Given the description of an element on the screen output the (x, y) to click on. 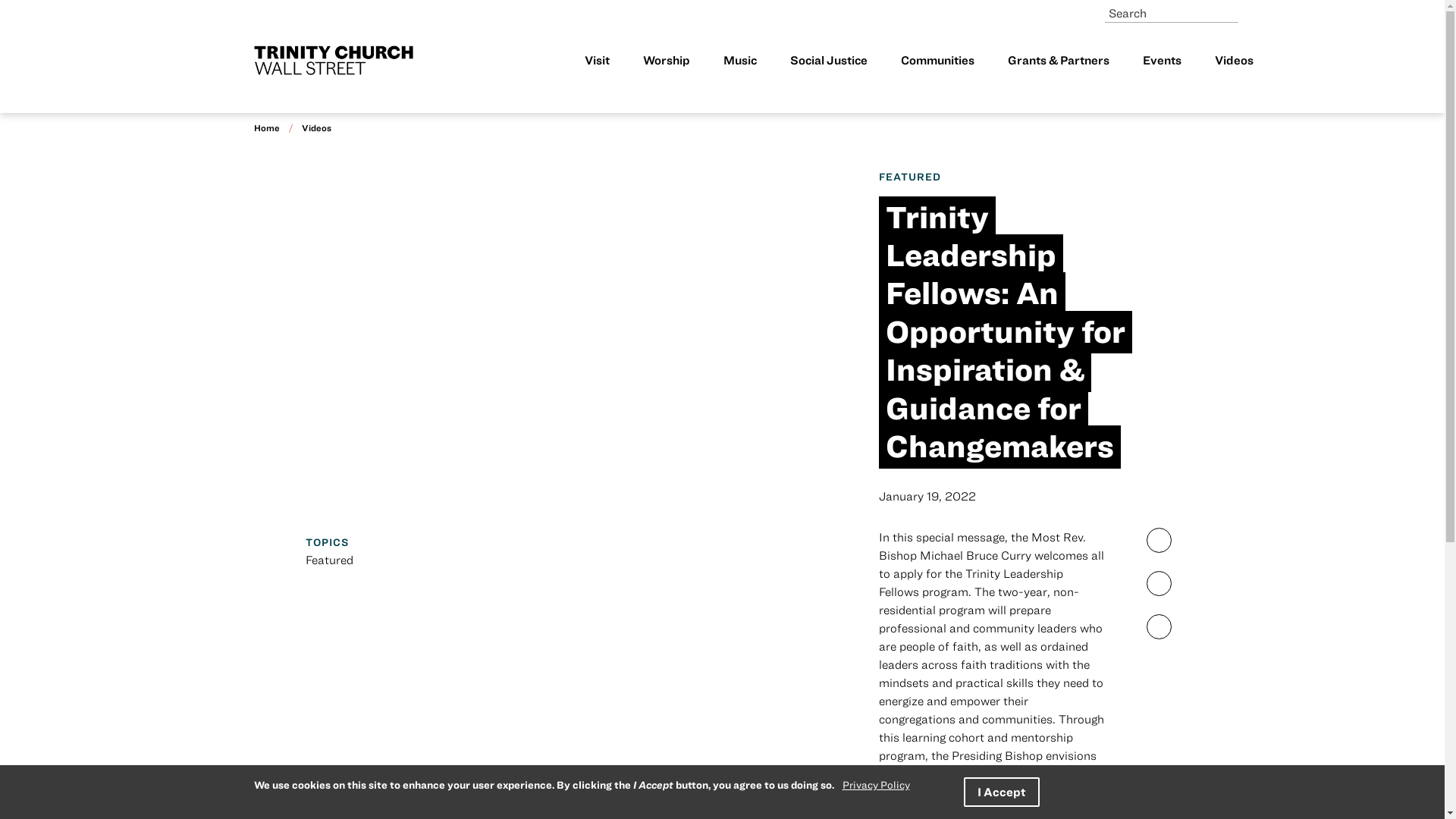
Videos (1233, 60)
Worship (666, 60)
Social Justice (828, 60)
Worship (666, 60)
Music (740, 60)
Skip to main content (721, 6)
Communities (937, 60)
Social Justice (828, 60)
Visit (595, 60)
Communities (937, 60)
Events (1160, 60)
Visit (595, 60)
Home (266, 127)
Videos (316, 127)
